Given the description of an element on the screen output the (x, y) to click on. 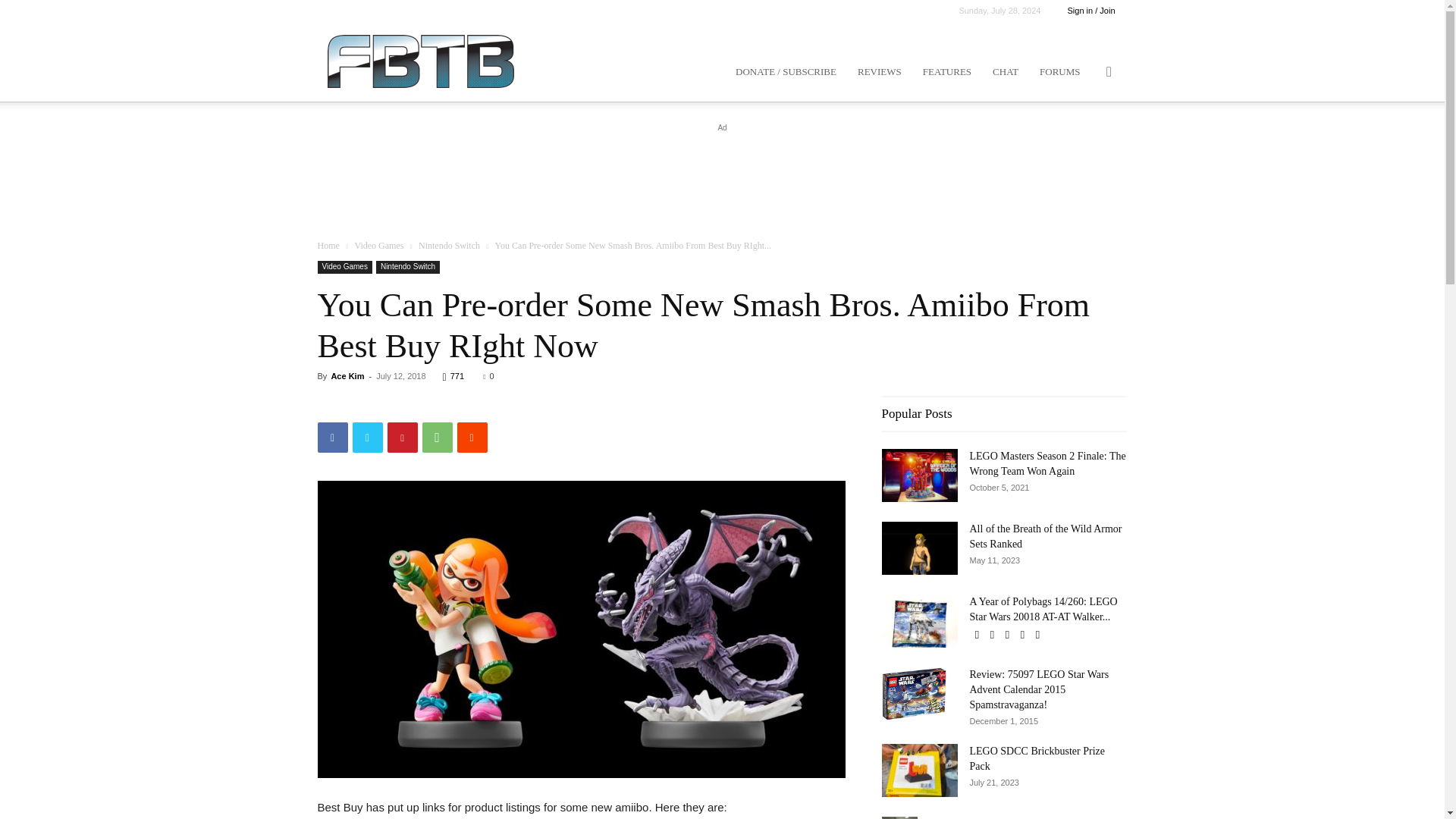
Video Games (378, 245)
View all posts in Nintendo Switch (449, 245)
View all posts in Video Games (378, 245)
0 (488, 375)
Nintendo Switch (449, 245)
From Bricks To Bothans (419, 60)
Video Games (344, 267)
Facebook (332, 437)
Ace Kim (347, 375)
topFacebookLike (430, 403)
FBTB (419, 61)
Nintendo Switch (407, 267)
Home (328, 245)
Advertisement (721, 169)
FORUMS (1059, 71)
